Given the description of an element on the screen output the (x, y) to click on. 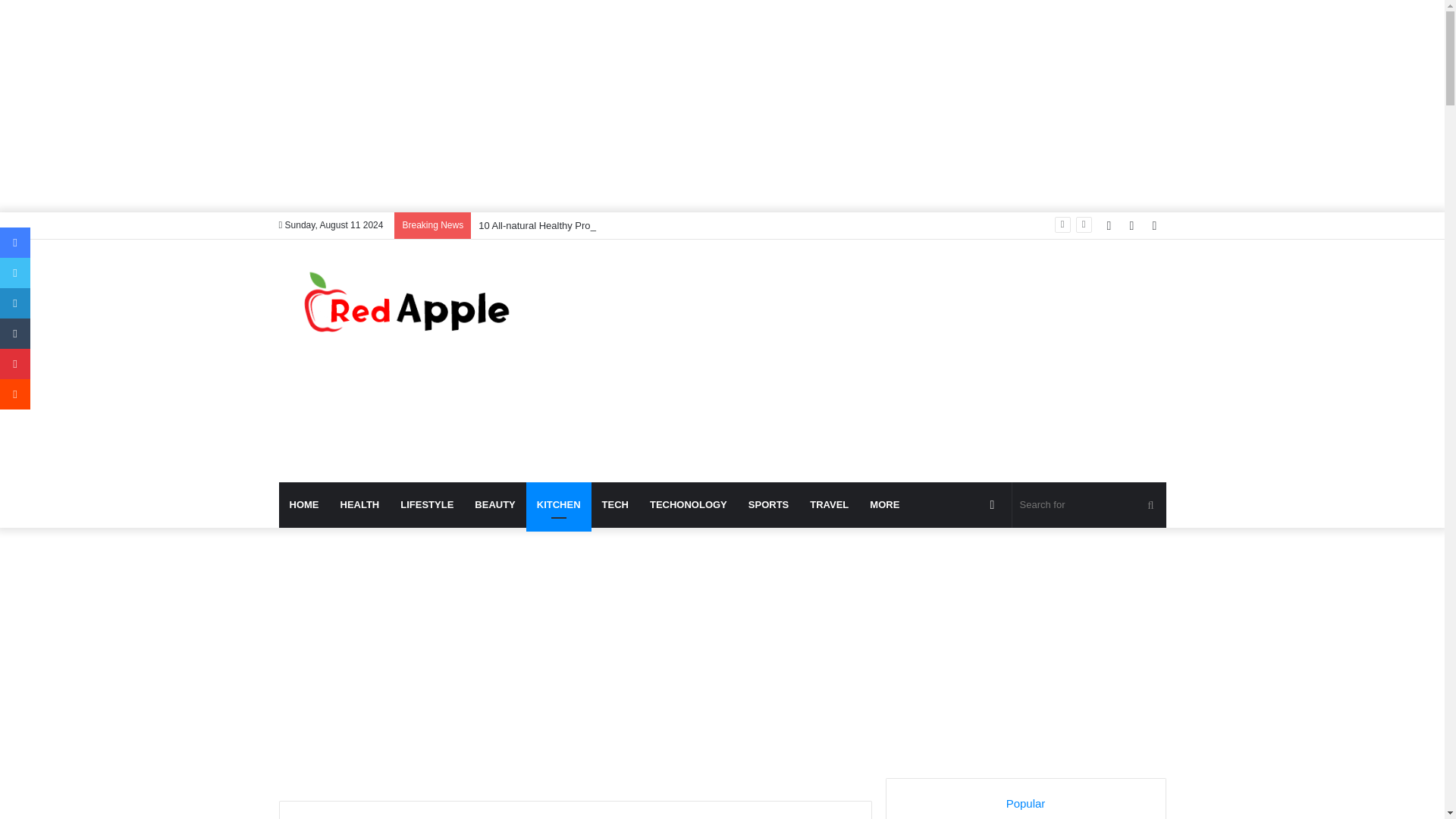
HEALTH (359, 504)
LIFESTYLE (427, 504)
red apple news (419, 303)
MORE (884, 504)
TRAVEL (829, 504)
SPORTS (768, 504)
KITCHEN (558, 504)
HOME (304, 504)
BEAUTY (494, 504)
